Given the description of an element on the screen output the (x, y) to click on. 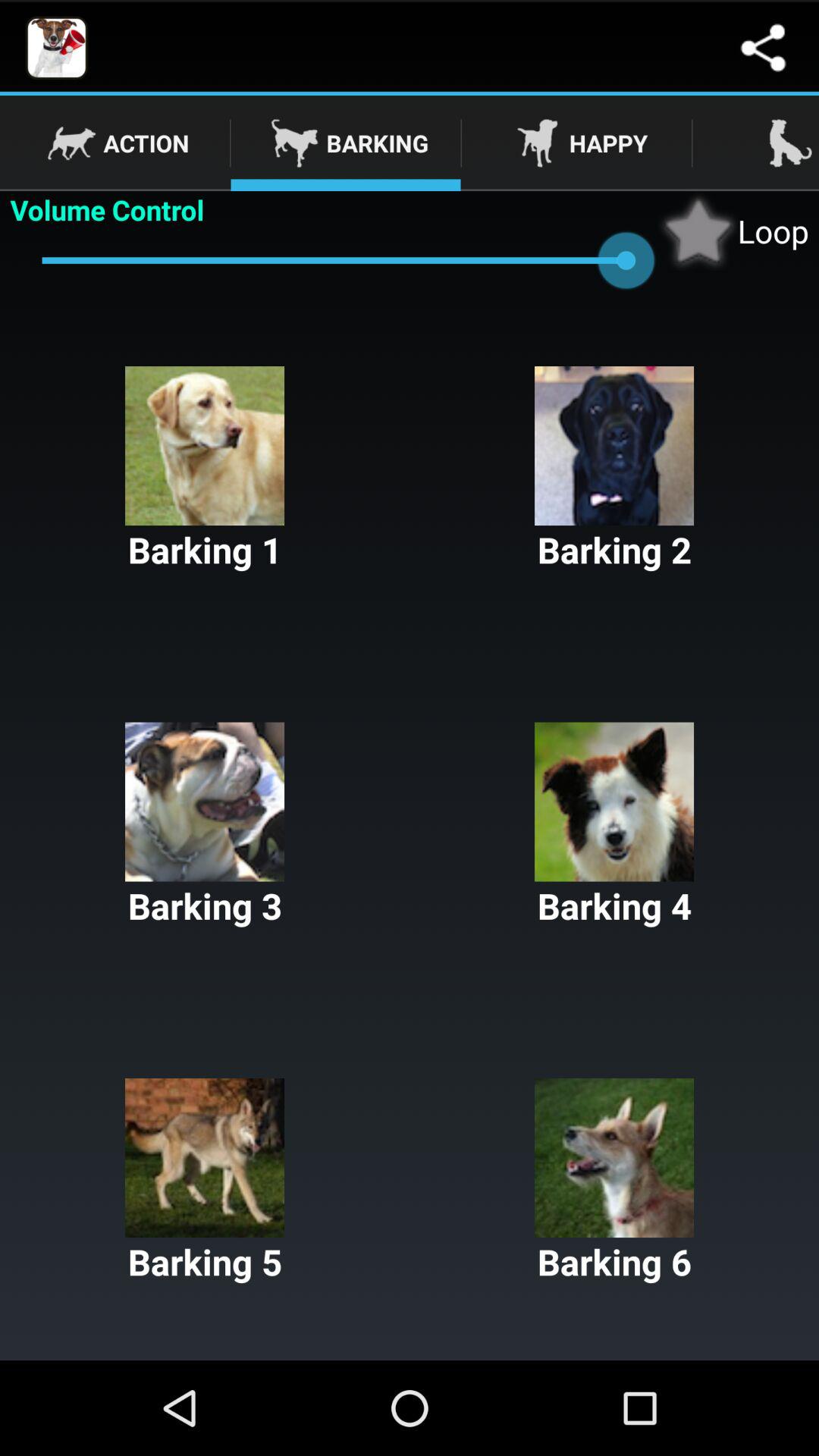
turn off the icon to the left of barking 6 (204, 1181)
